Given the description of an element on the screen output the (x, y) to click on. 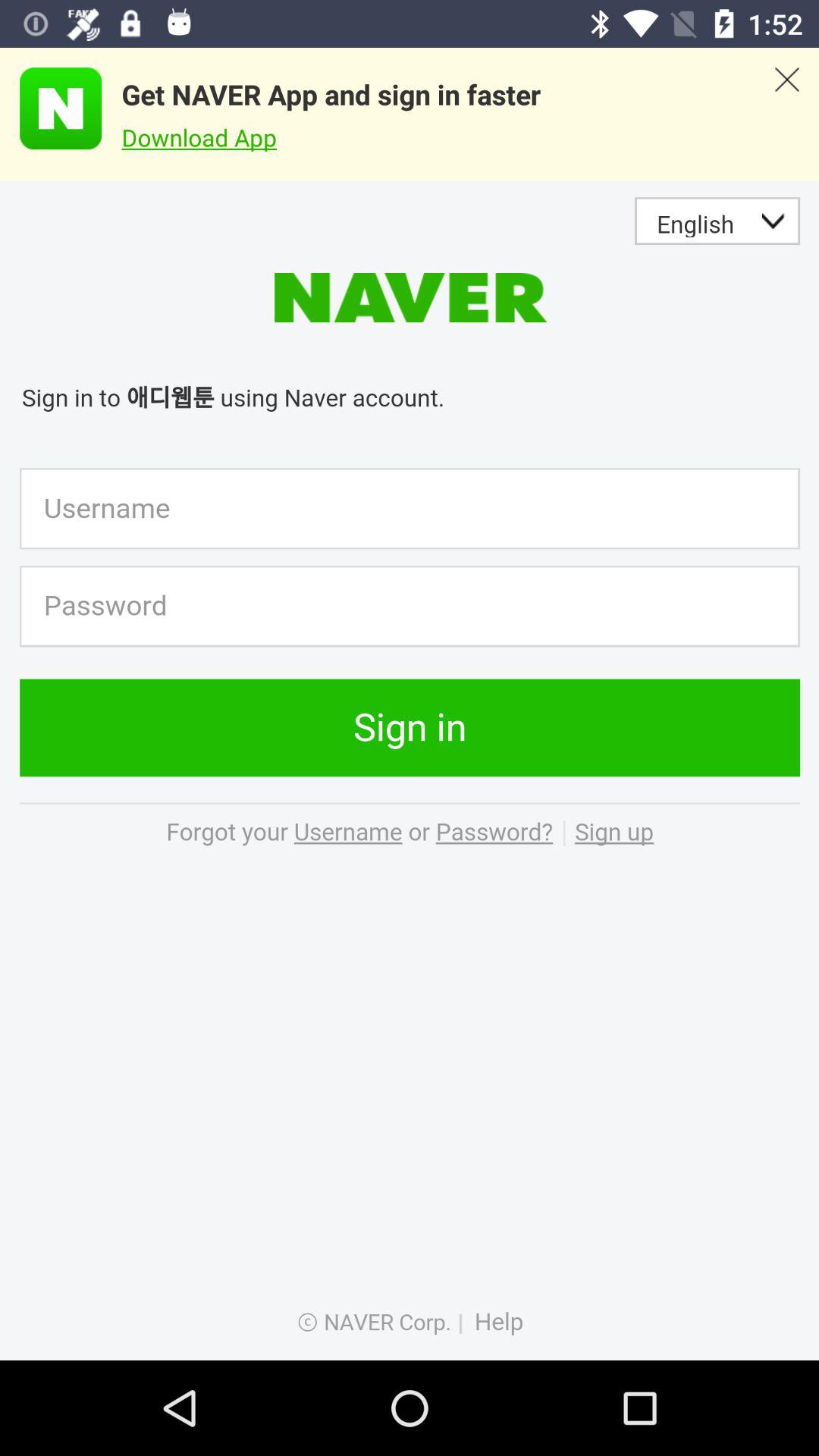
close (787, 114)
